Given the description of an element on the screen output the (x, y) to click on. 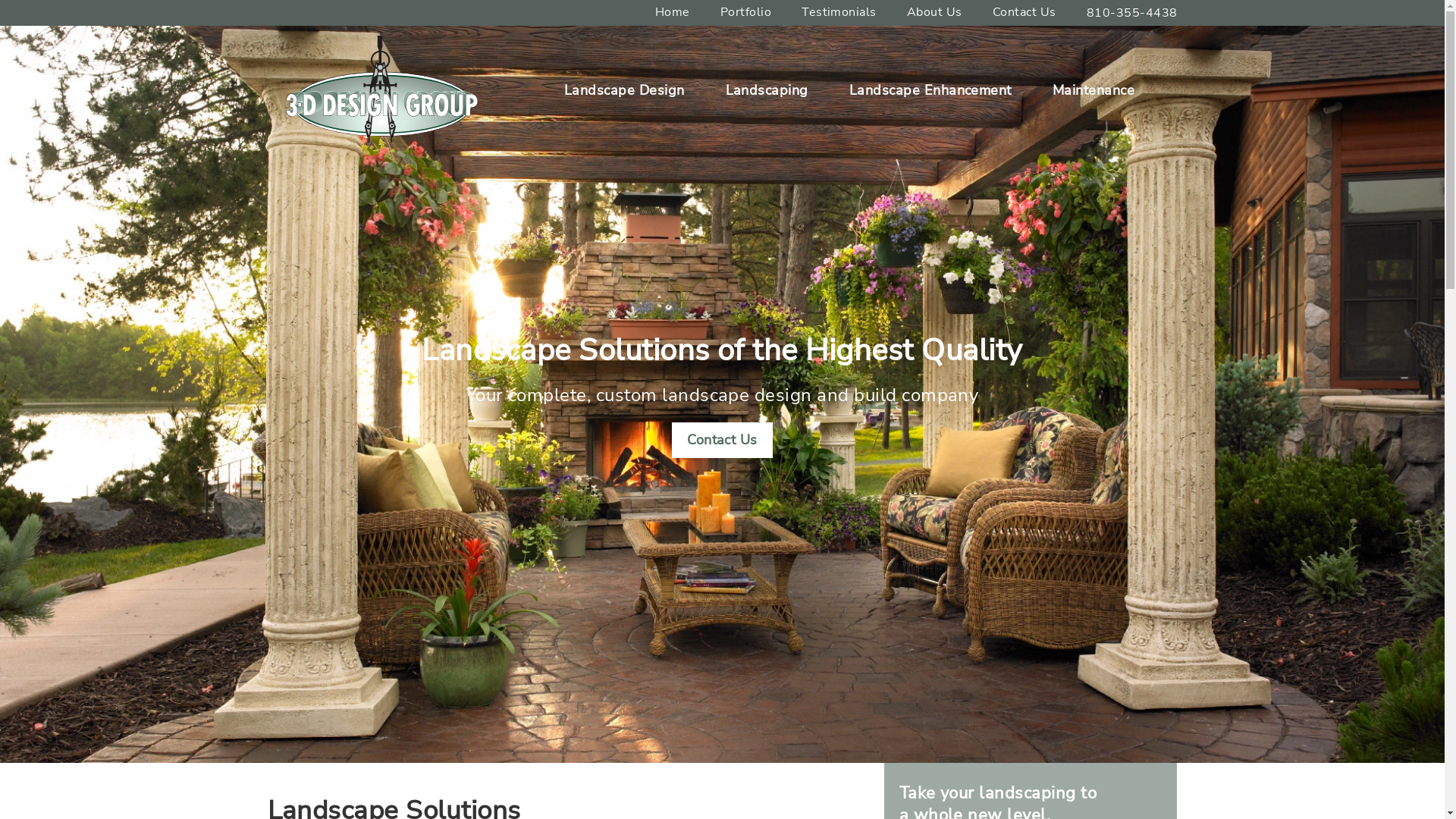
About Us Element type: text (934, 11)
Landscape Enhancement Element type: text (930, 89)
Testimonials Element type: text (838, 11)
Portfolio Element type: text (745, 11)
Skip to main navigation Element type: text (0, 0)
Landscaping Element type: text (766, 89)
Landscape Design Element type: text (624, 89)
Contact Us Element type: text (721, 440)
Home Element type: hover (380, 42)
Maintenance Element type: text (1093, 89)
Contact Us Element type: text (1024, 11)
810-355-4438 Element type: text (1123, 12)
Home Element type: text (672, 11)
